Given the description of an element on the screen output the (x, y) to click on. 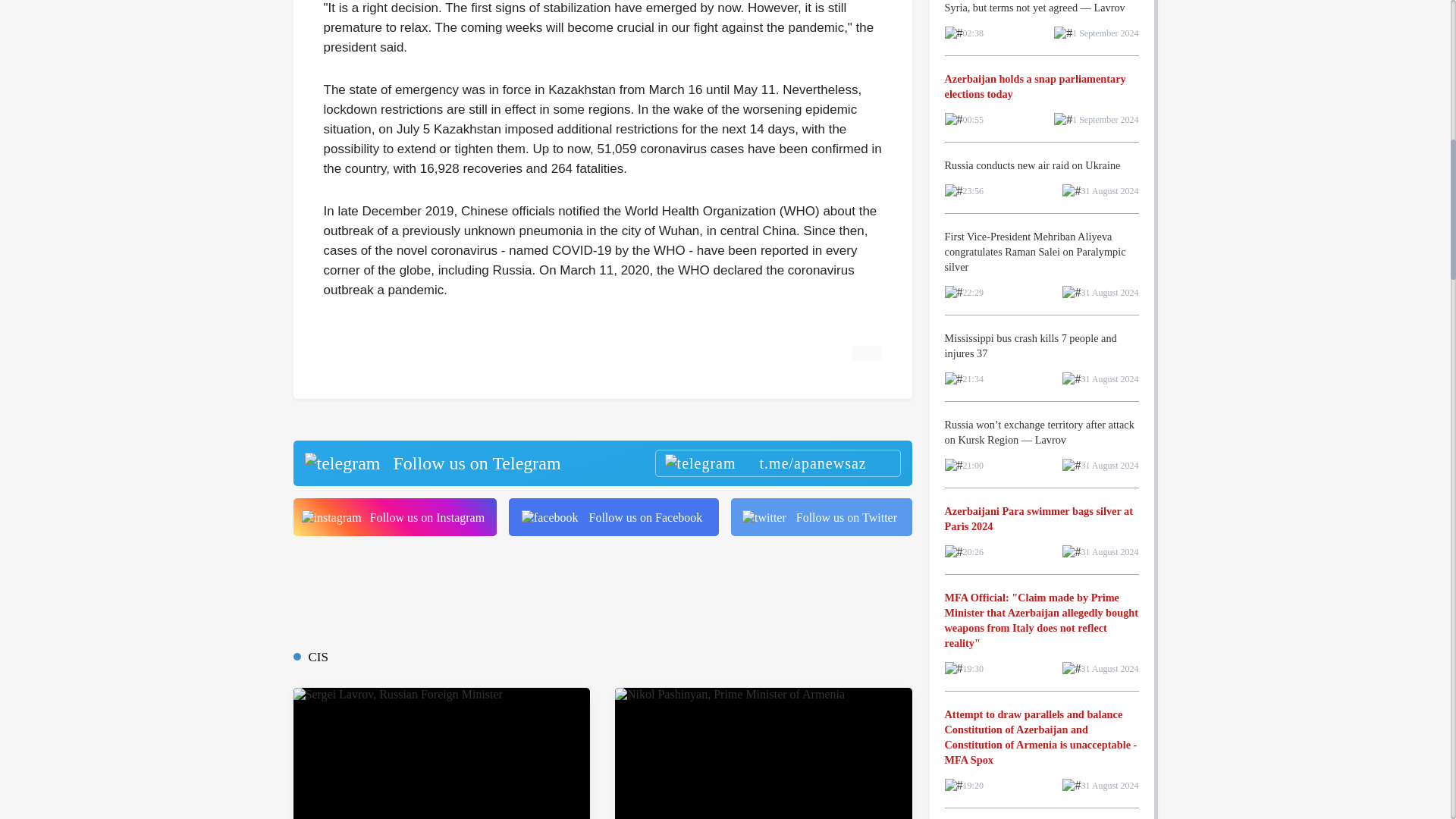
Follow us on Instagram (394, 516)
Follow us on Telegram (601, 463)
Follow us on Twitter (821, 516)
Follow us on Facebook (613, 516)
